Given the description of an element on the screen output the (x, y) to click on. 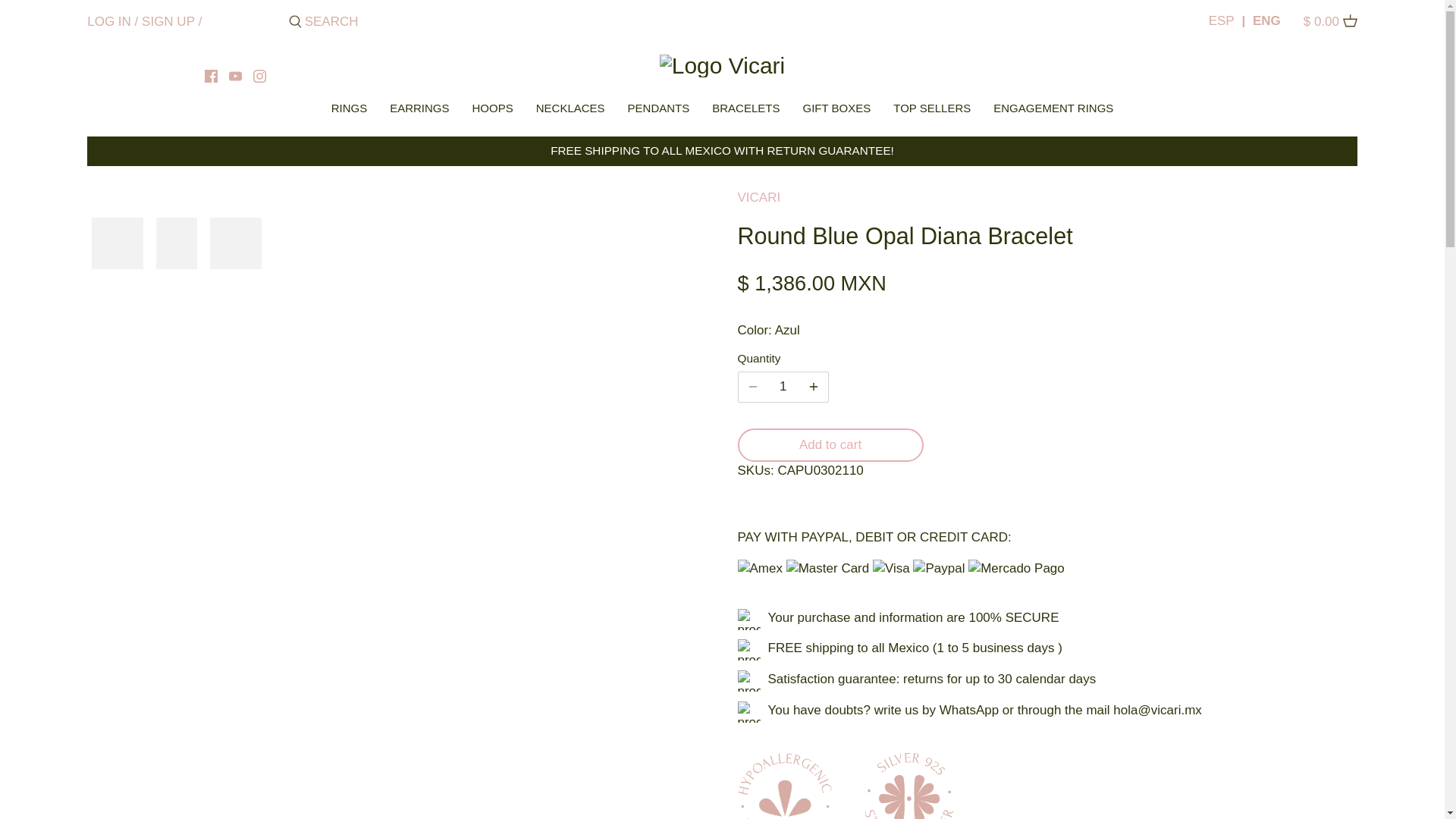
Add to cart (829, 444)
INSTAGRAM (259, 75)
ENGAGEMENT RINGS (1052, 110)
WhatsApp (968, 709)
BRACELETS (745, 110)
ESP (1221, 20)
EARRINGS (419, 110)
ENG (1260, 20)
YOUTUBE (234, 75)
NECKLACES (569, 110)
TOP SELLERS (931, 110)
FACEBOOK (211, 75)
SIGN UP (168, 20)
HOOPS (492, 110)
PENDANTS (658, 110)
